Given the description of an element on the screen output the (x, y) to click on. 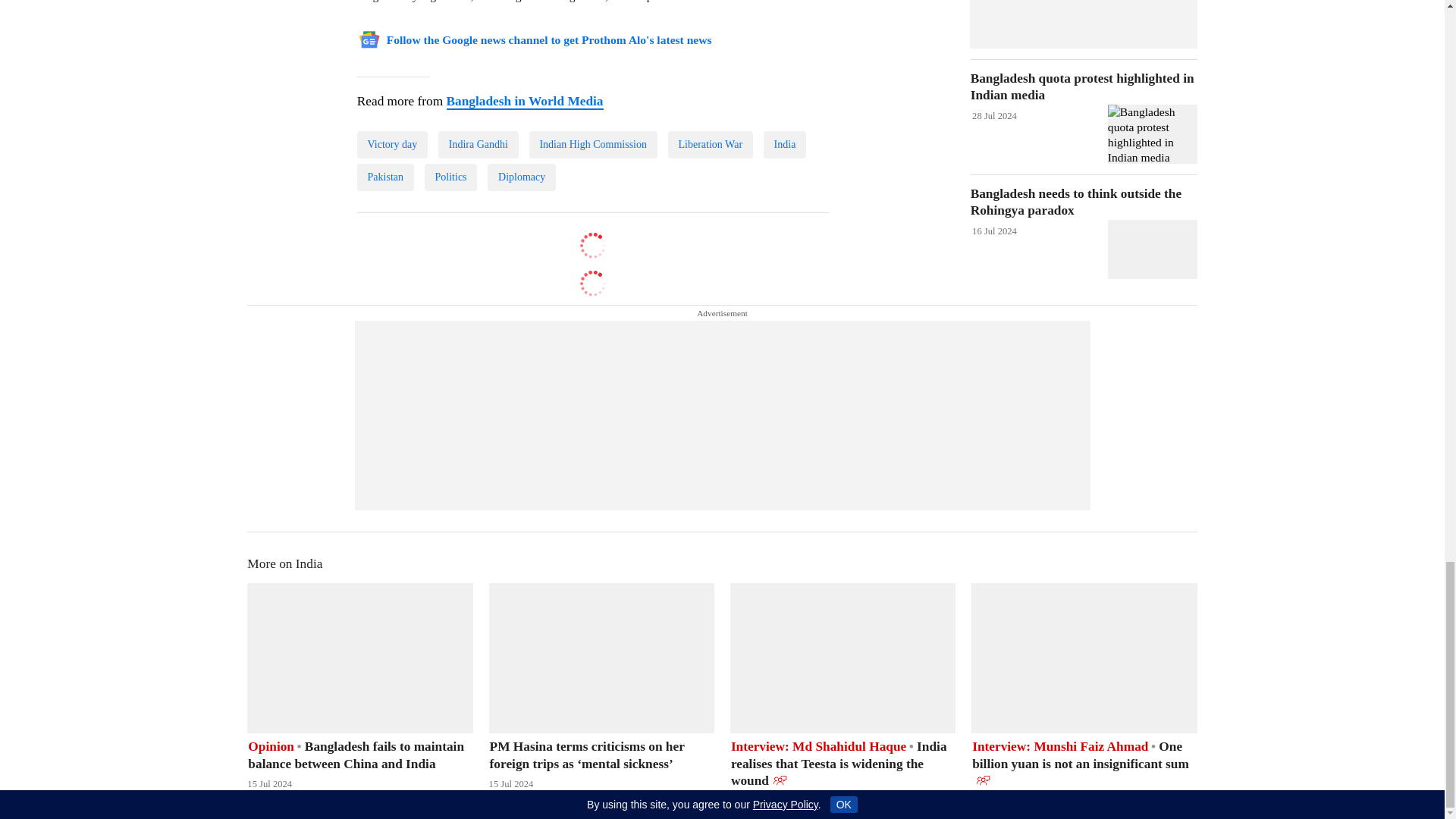
Indian High Commission (593, 144)
Victory day (392, 144)
Bangladesh in World Media (523, 100)
Indira Gandhi (478, 144)
